Given the description of an element on the screen output the (x, y) to click on. 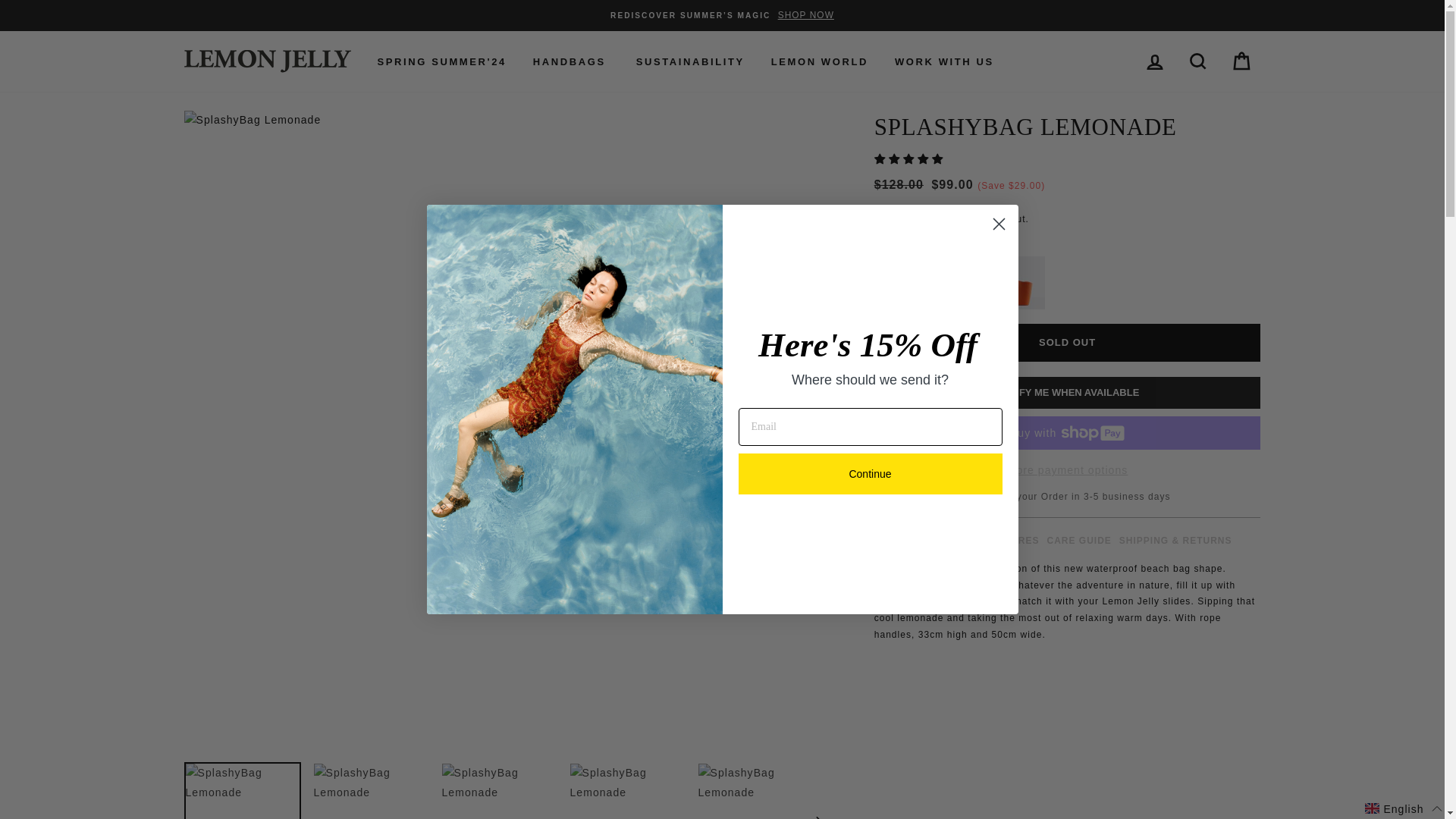
SplashyBag Black (960, 282)
SplashyBag Fuschia (904, 306)
SPRING SUMMER'24 (440, 61)
SplashyBag Fuschia (901, 282)
HANDBAGS (569, 61)
SplashyBag Black (962, 306)
SplashyBag Tangerine (1018, 282)
SplashyBag Tangerine (1018, 306)
